Given the description of an element on the screen output the (x, y) to click on. 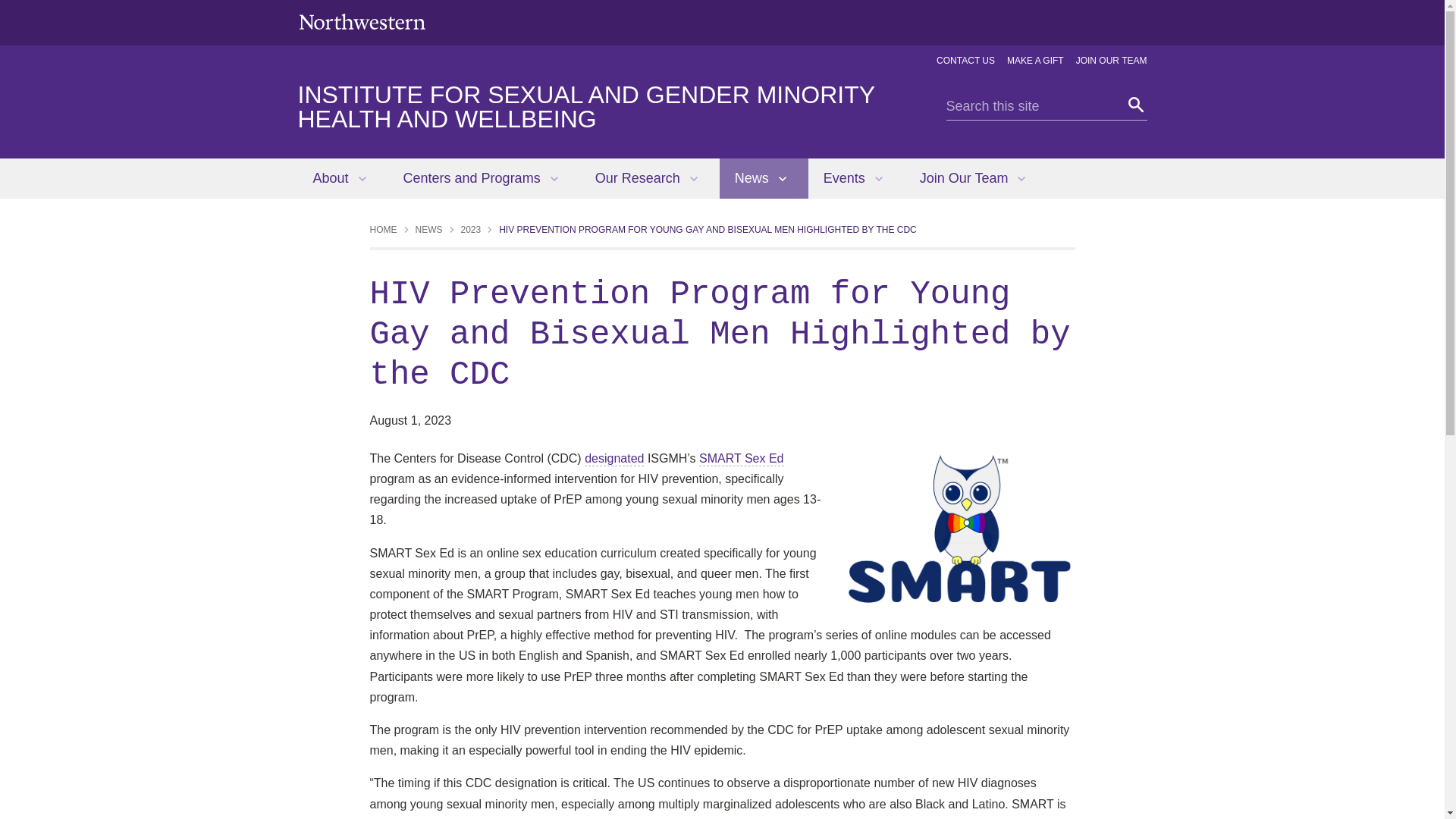
MAKE A GIFT (1035, 60)
JOIN OUR TEAM (1111, 60)
Northwestern University Home (361, 21)
CONTACT US (965, 60)
